Given the description of an element on the screen output the (x, y) to click on. 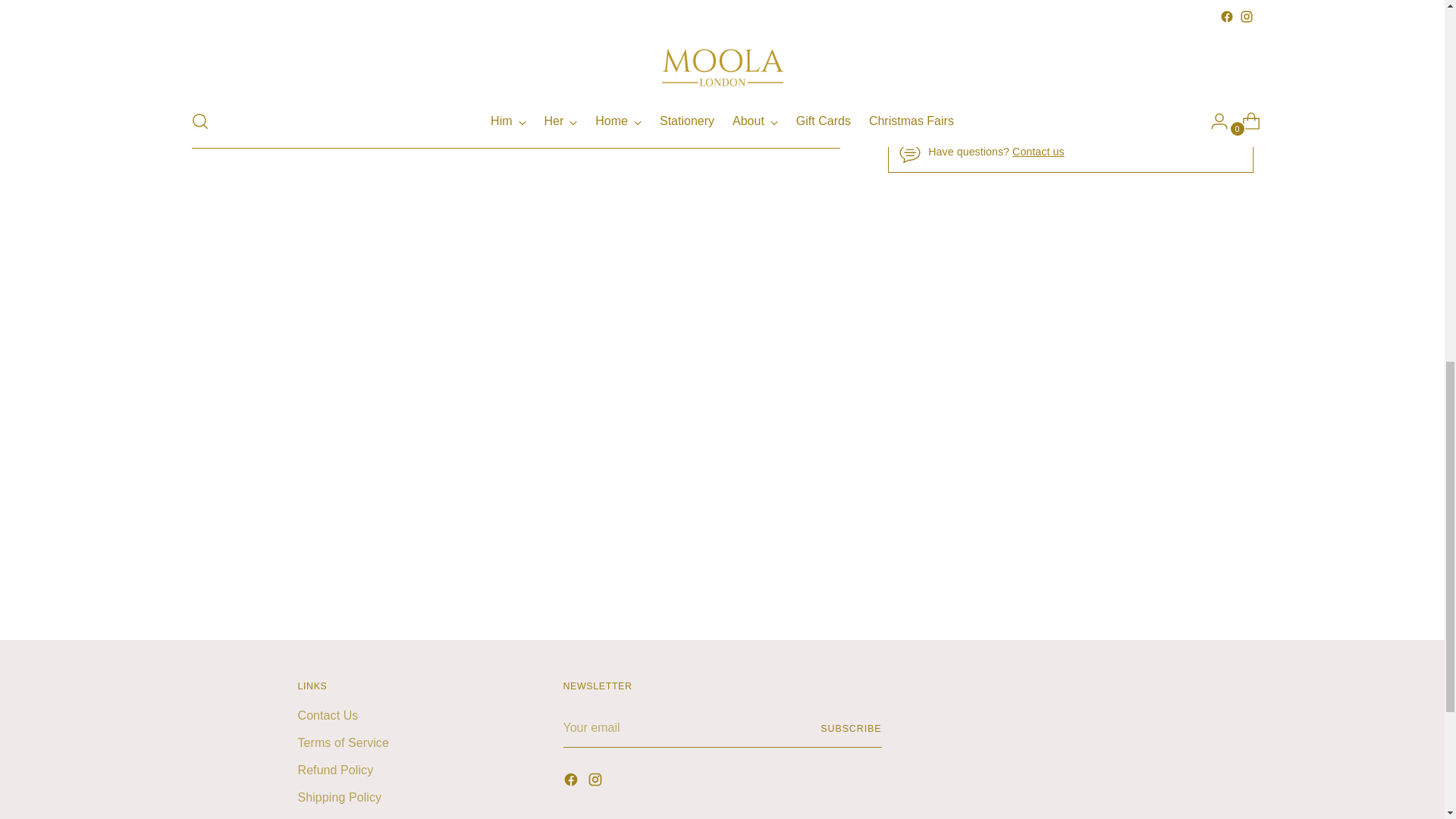
Moola London  on Facebook (571, 782)
Moola London  on Instagram (595, 782)
